Given the description of an element on the screen output the (x, y) to click on. 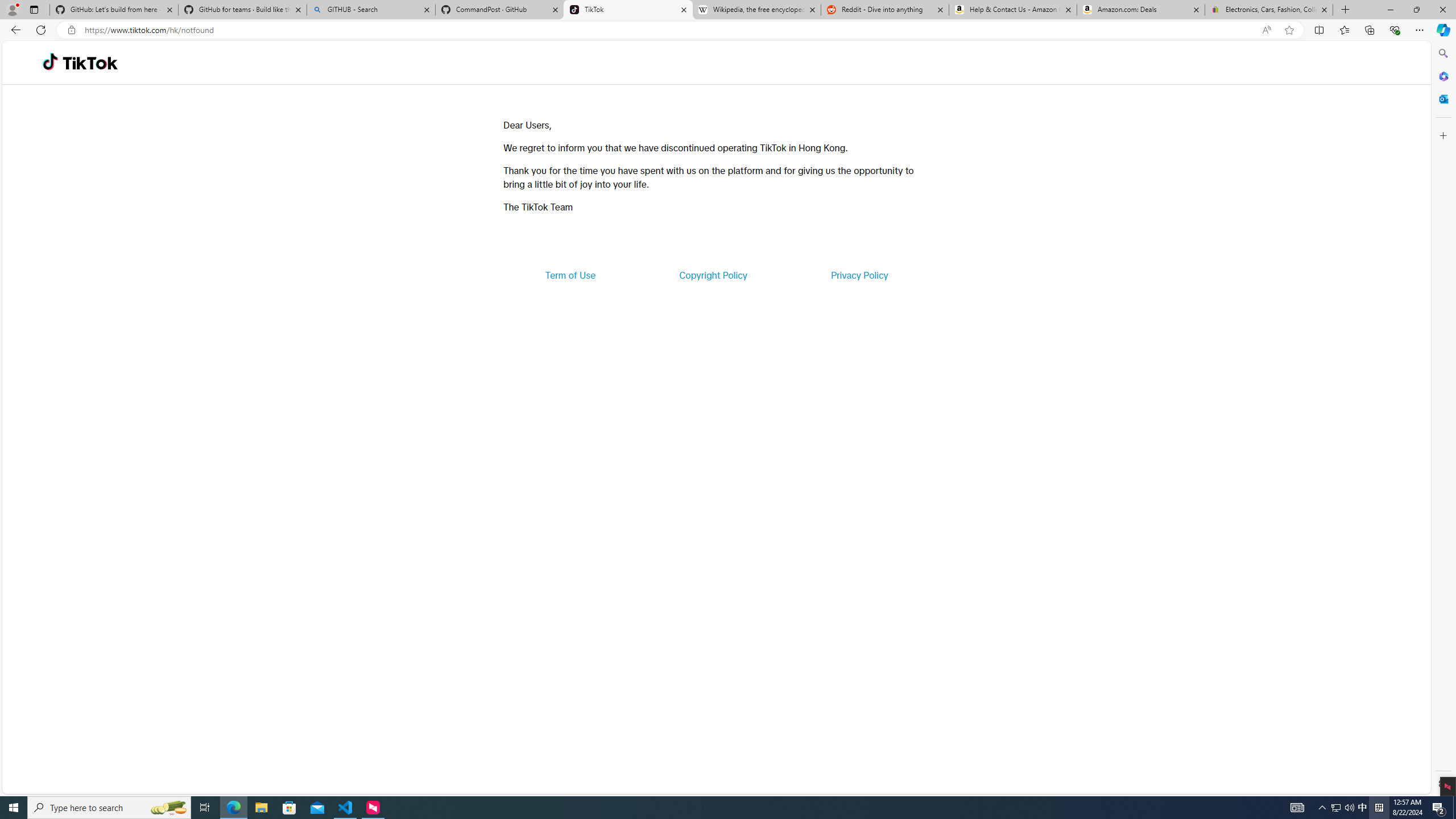
TikTok (89, 62)
Amazon.com: Deals (1140, 9)
